Given the description of an element on the screen output the (x, y) to click on. 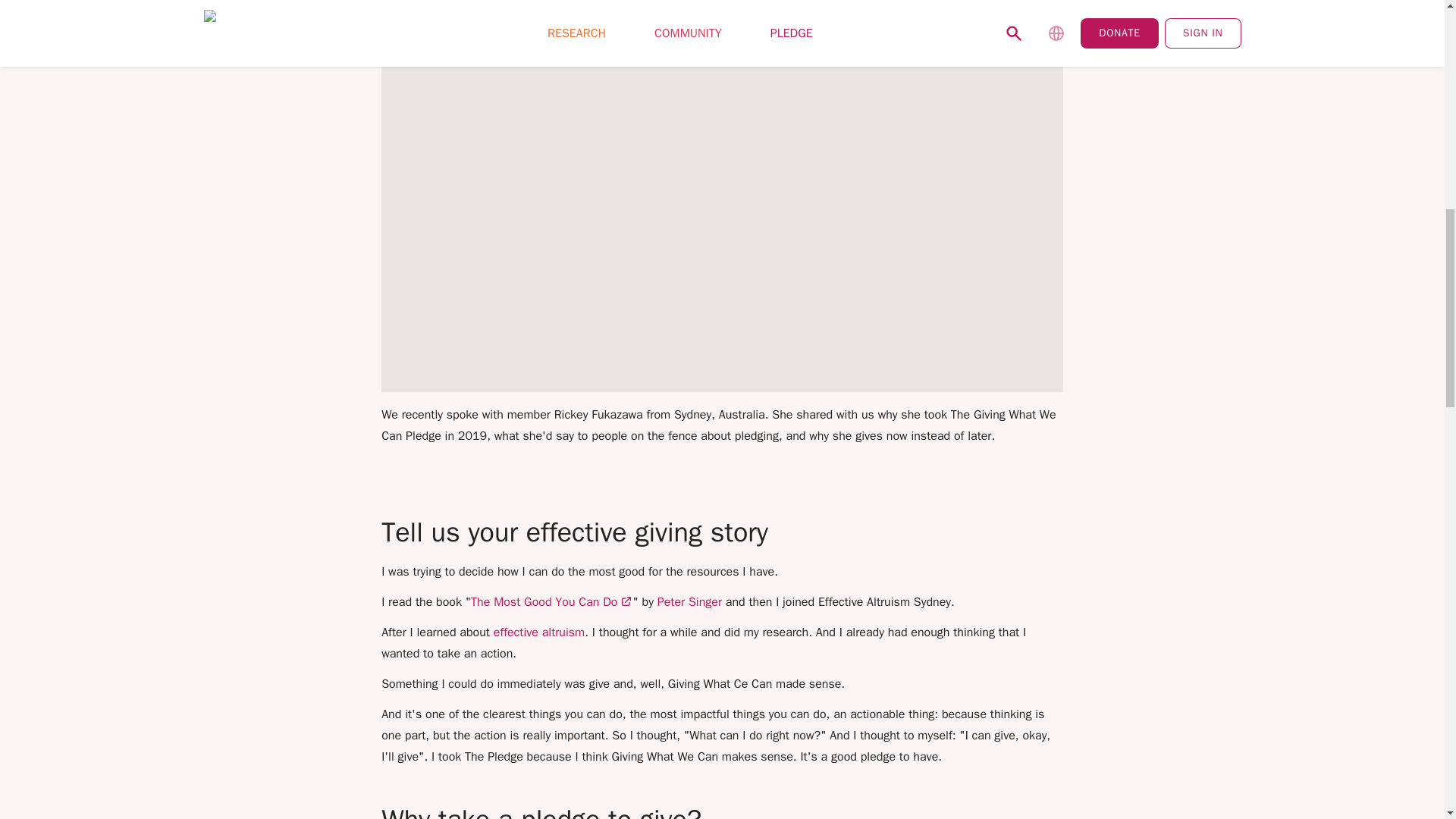
Peter Singer (690, 601)
The Most Good You Can Do (550, 601)
effective altruism (539, 631)
